Given the description of an element on the screen output the (x, y) to click on. 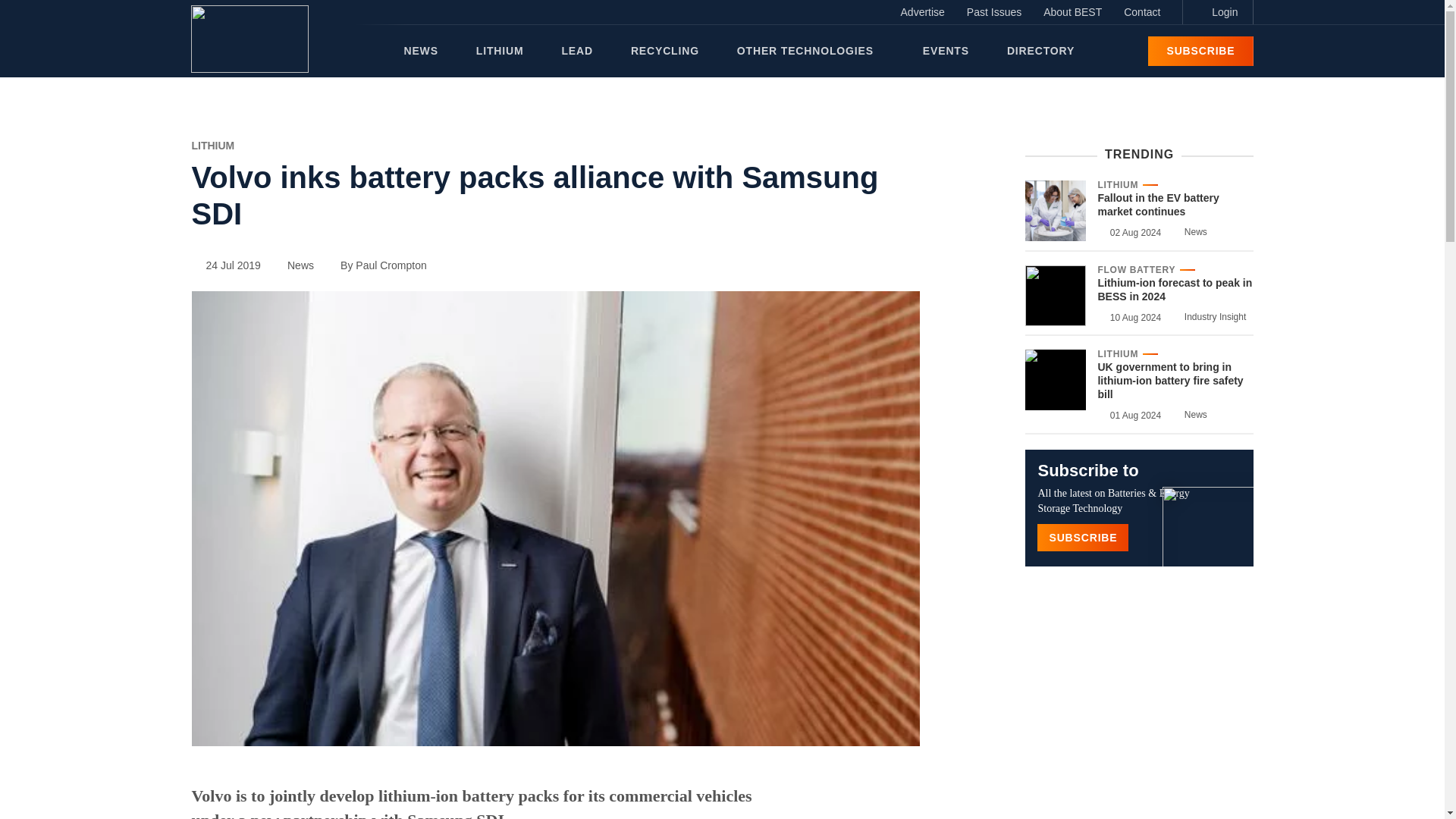
Login (1217, 12)
RECYCLING (664, 50)
DIRECTORY (1039, 50)
LITHIUM (212, 145)
EVENTS (945, 50)
SUBSCRIBE (1200, 51)
Advertise (922, 12)
By Paul Crompton (376, 265)
About BEST (1072, 12)
Past Issues (994, 12)
